Given the description of an element on the screen output the (x, y) to click on. 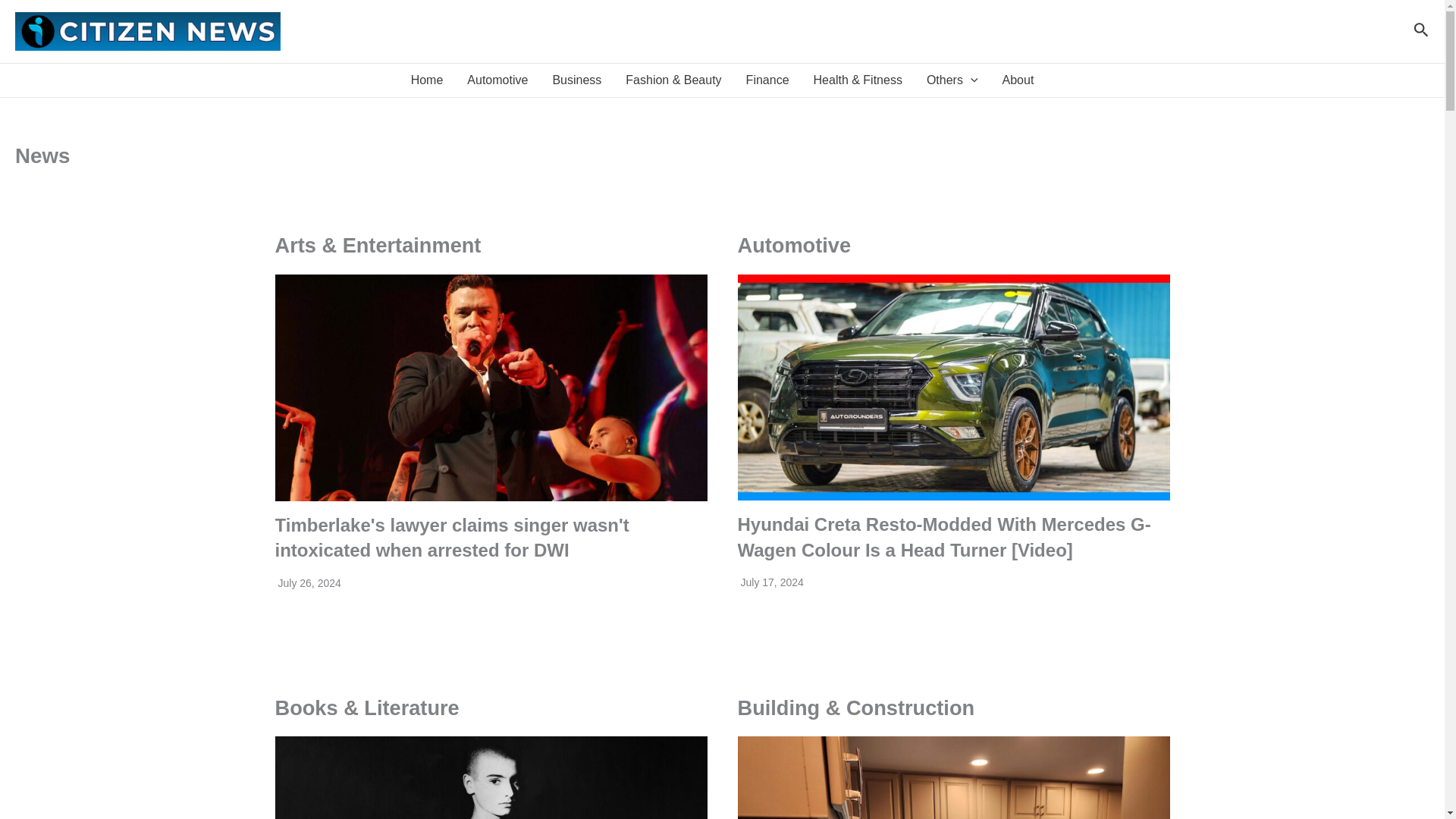
Others (952, 80)
About (1018, 80)
Finance (767, 80)
Business (576, 80)
Home (426, 80)
Automotive (497, 80)
